Given the description of an element on the screen output the (x, y) to click on. 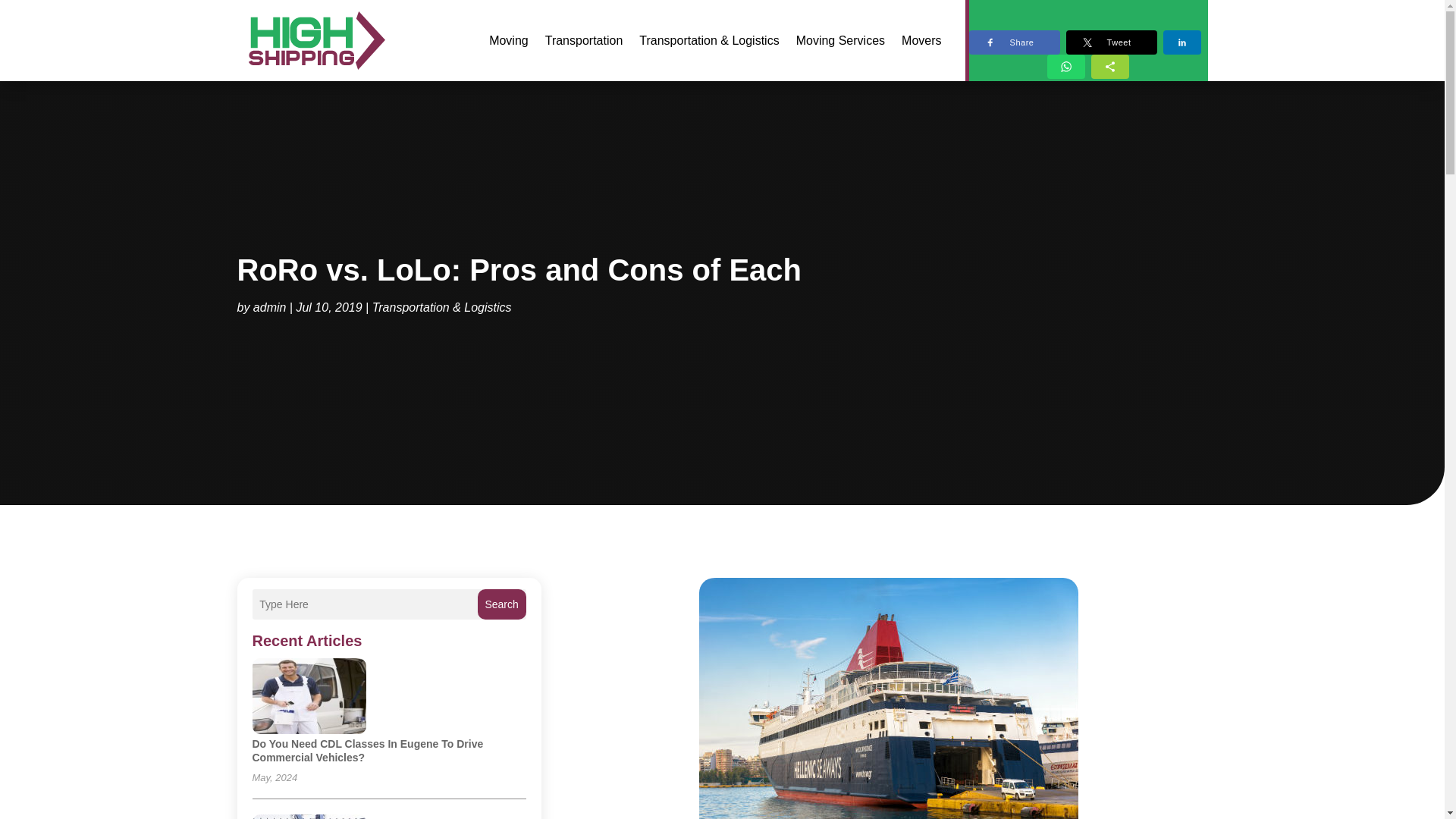
admin (269, 306)
Posts by admin (269, 306)
Moving (508, 40)
Movers (920, 40)
Search (501, 603)
Transportation (583, 40)
Moving Services (840, 40)
